Given the description of an element on the screen output the (x, y) to click on. 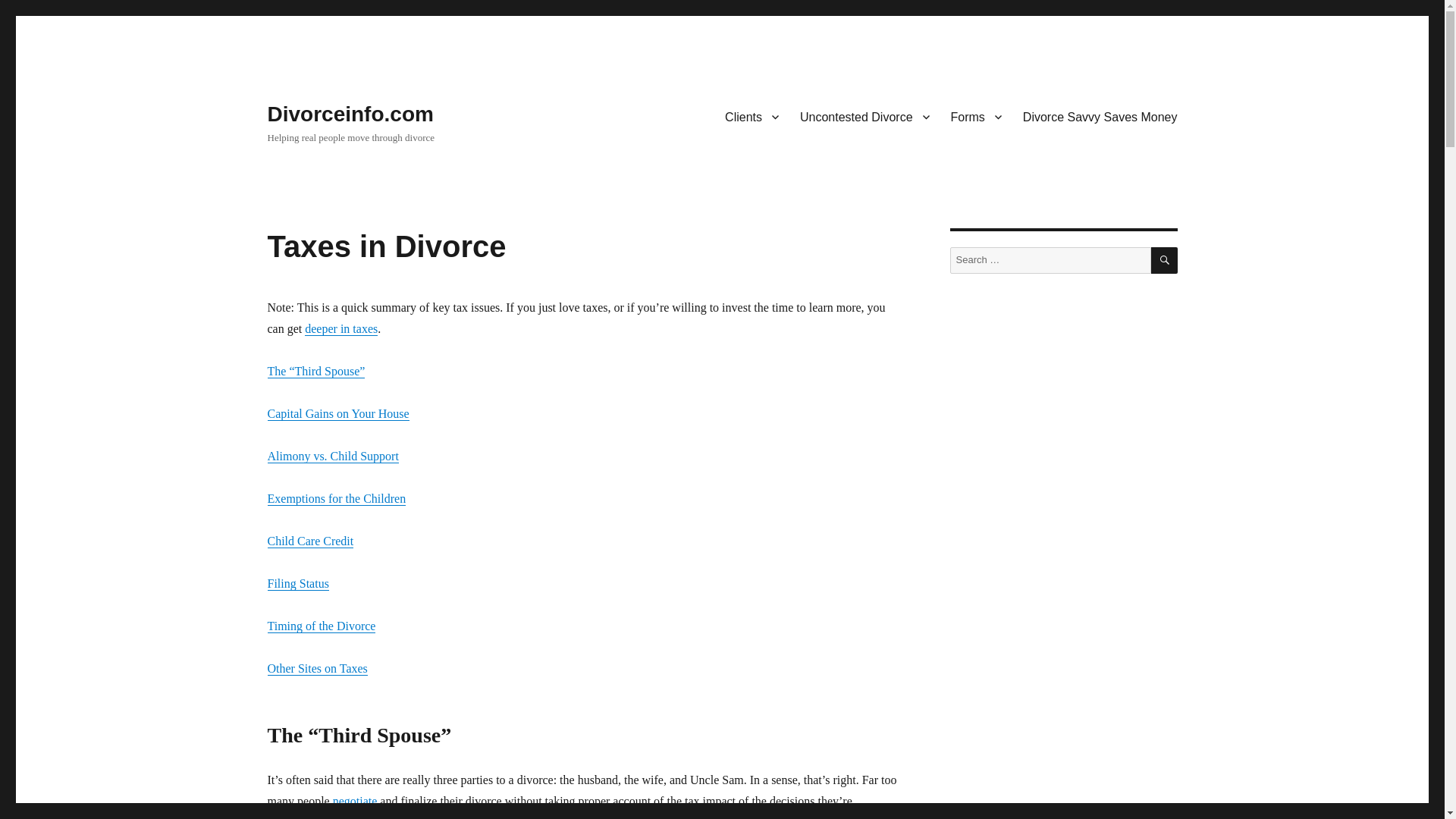
Alimony vs. Child Support (331, 455)
Clients (751, 116)
Filing Status (297, 583)
negotiate (355, 800)
Timing of the Divorce (320, 625)
Capital Gains on Your House (337, 413)
Divorceinfo.com (349, 114)
Divorce Savvy Saves Money (1099, 116)
Other Sites on Taxes (316, 667)
Child Care Credit (309, 540)
deeper in taxes (340, 328)
Uncontested Divorce (864, 116)
Exemptions for the Children (336, 498)
Forms (975, 116)
